Given the description of an element on the screen output the (x, y) to click on. 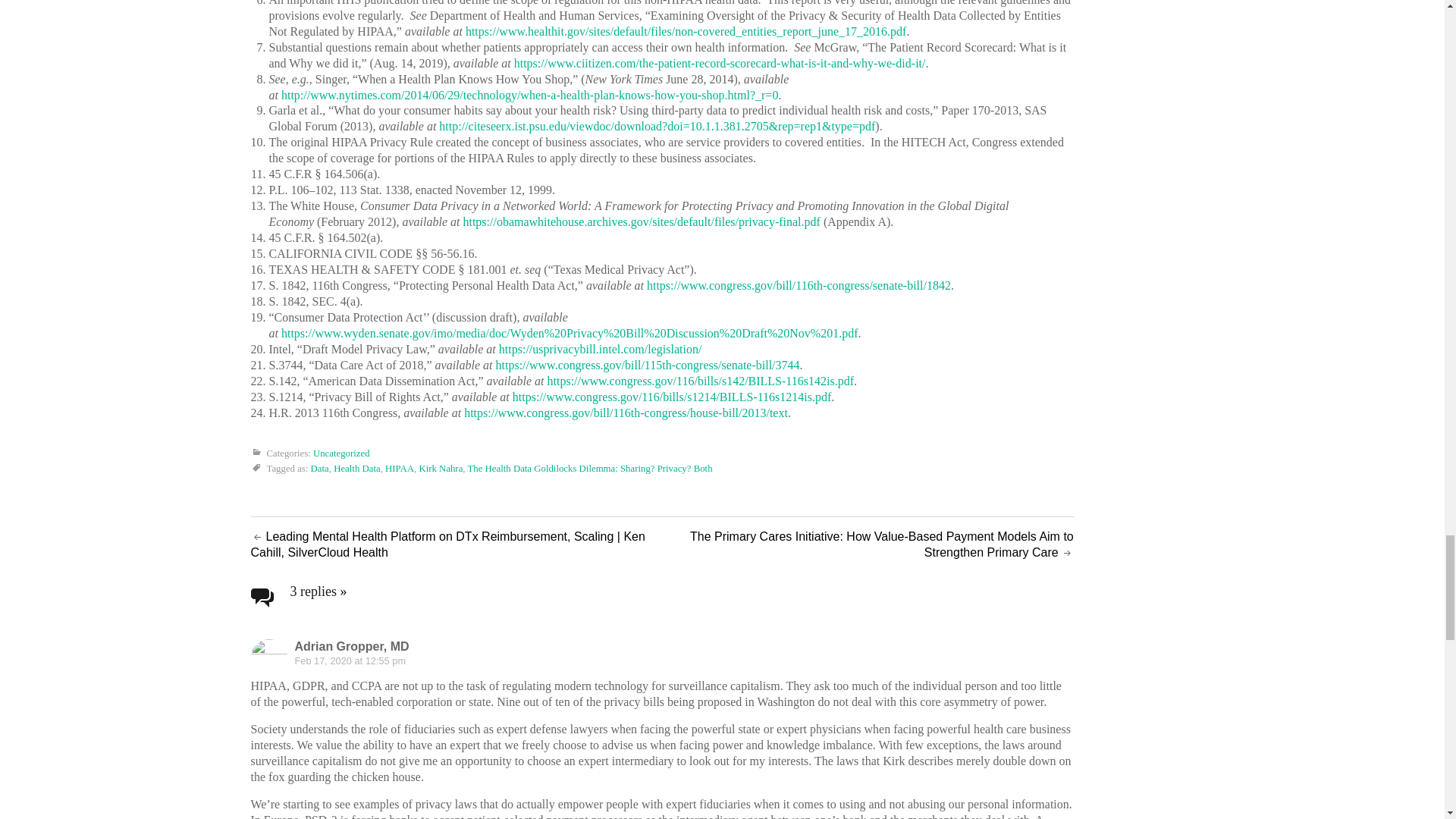
Data (320, 469)
Uncategorized (341, 452)
